Given the description of an element on the screen output the (x, y) to click on. 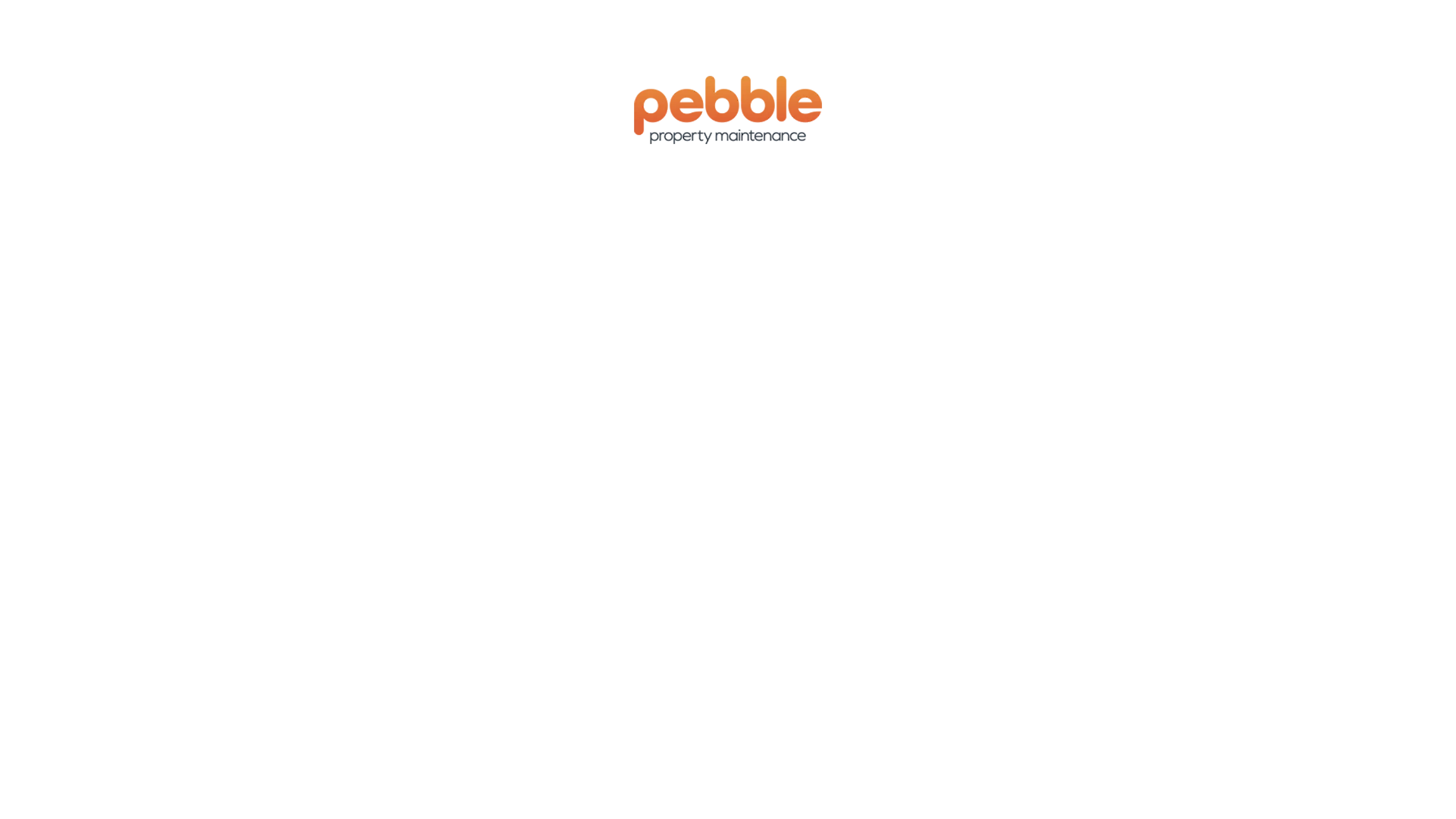
Property maintenance & handyman services Sunshine Coast Element type: hover (727, 109)
